Given the description of an element on the screen output the (x, y) to click on. 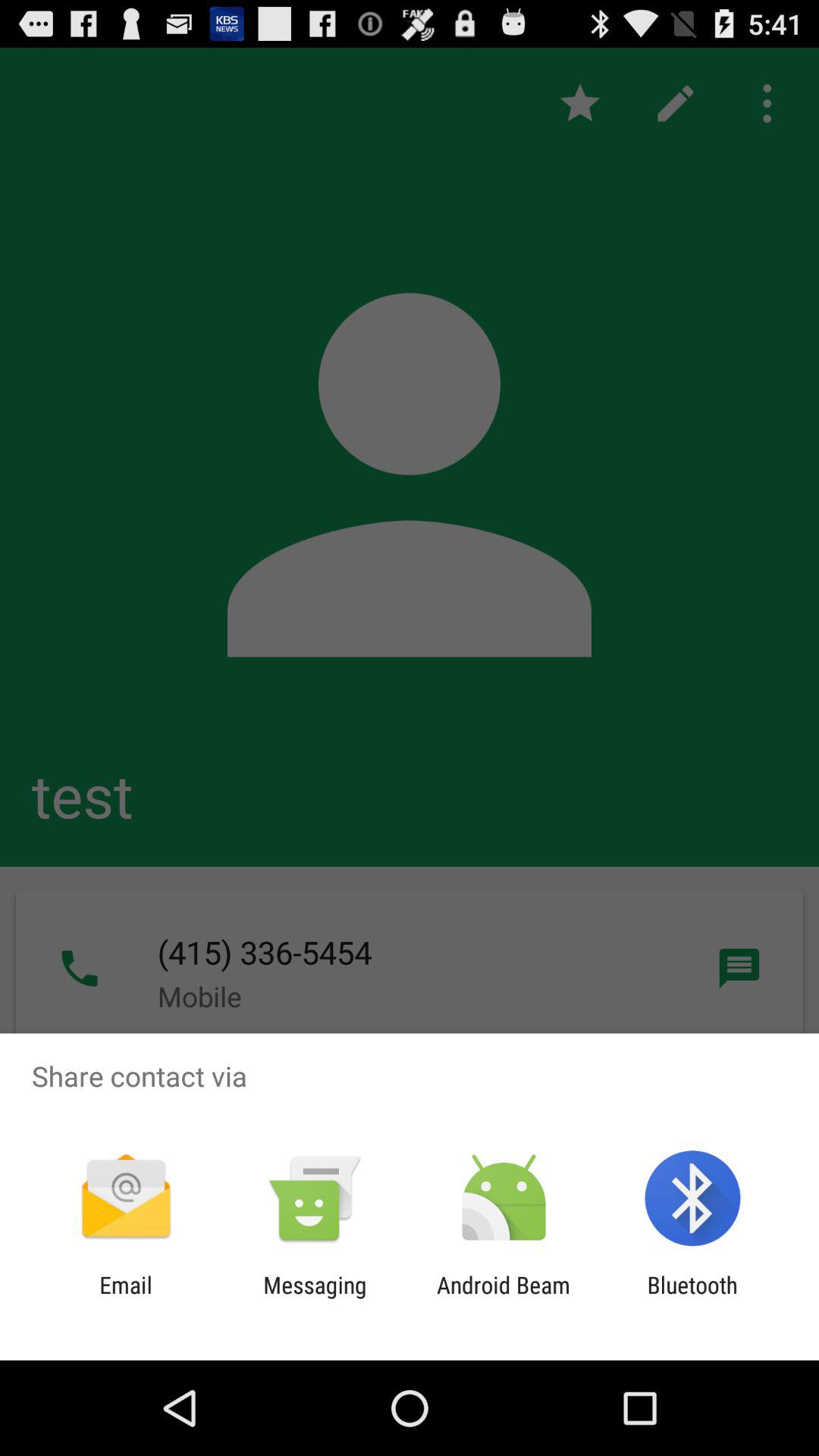
choose icon next to the bluetooth item (503, 1298)
